Given the description of an element on the screen output the (x, y) to click on. 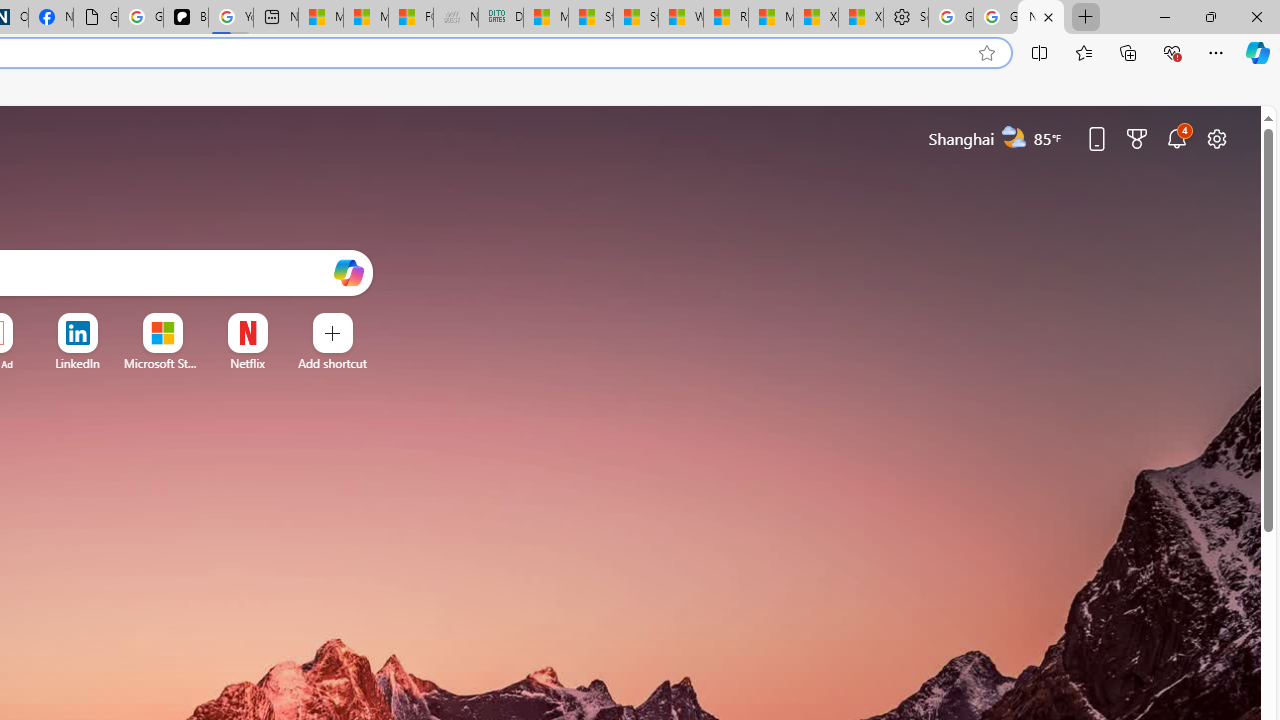
LinkedIn (77, 363)
Netflix (247, 363)
Add a site (332, 363)
